Given the description of an element on the screen output the (x, y) to click on. 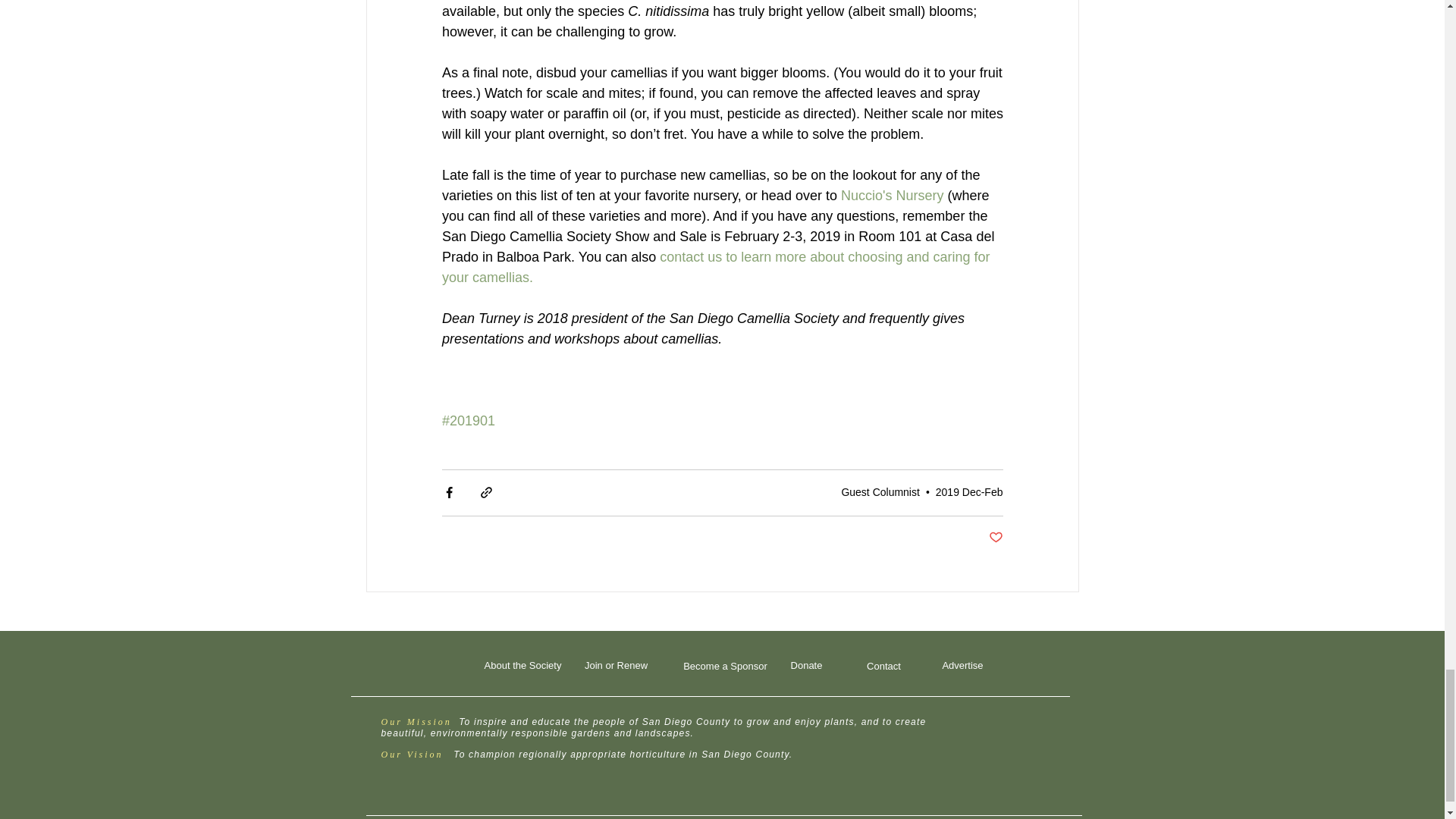
contact us (690, 256)
 to learn more about choosing and caring for your camellias. (716, 267)
Advertise (961, 665)
Donate (805, 665)
Guest Columnist (879, 491)
About the Society (522, 665)
2019 Dec-Feb (969, 491)
Post not marked as liked (995, 537)
Join or Renew (615, 665)
Contact (882, 666)
Become a Sponsor (724, 666)
Nuccio's Nursery (891, 195)
